Given the description of an element on the screen output the (x, y) to click on. 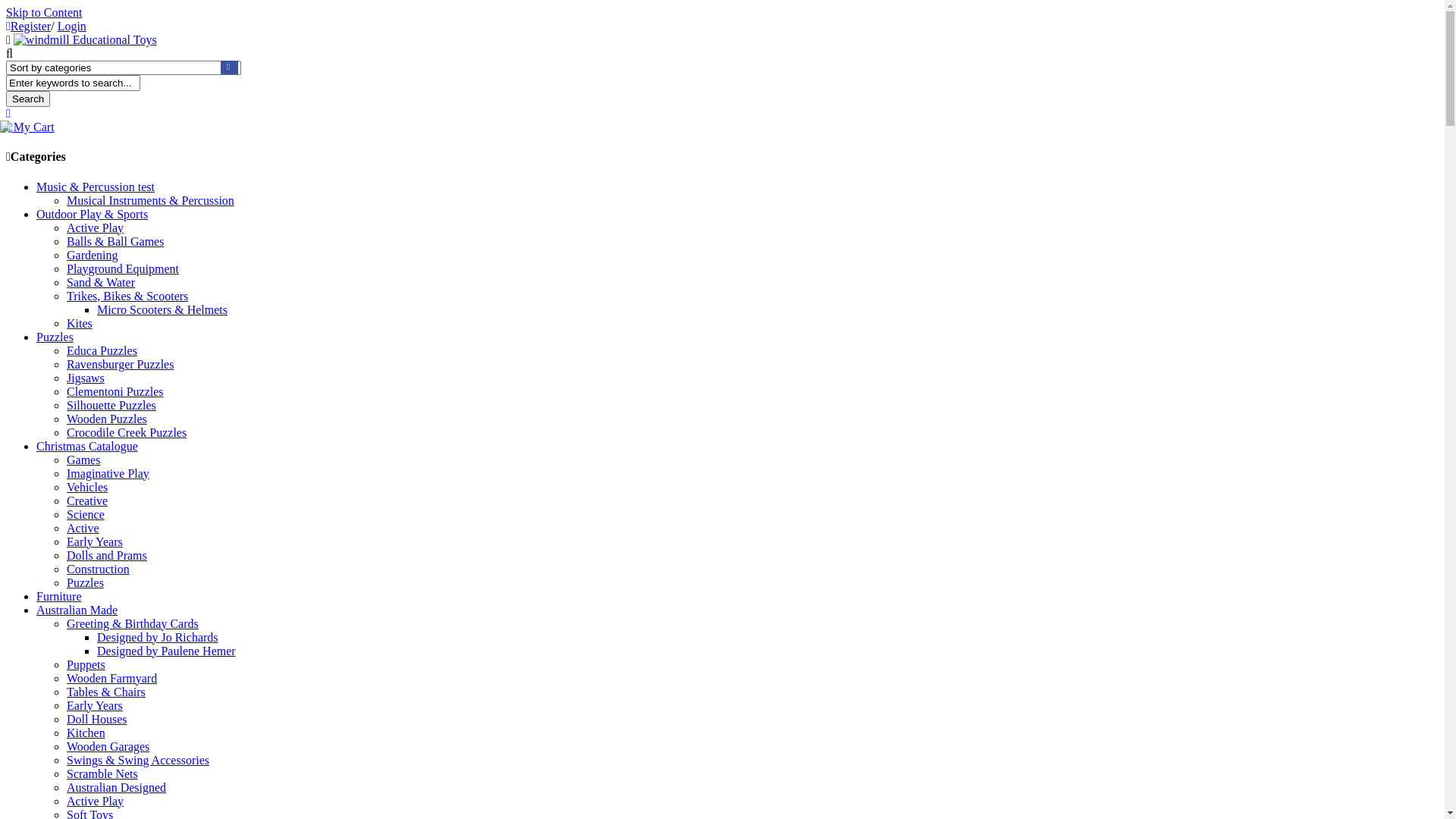
Christmas Catalogue Element type: text (87, 445)
Early Years Element type: text (94, 541)
Puzzles Element type: text (84, 582)
Designed by Jo Richards Element type: text (157, 636)
Gardening Element type: text (92, 254)
Playground Equipment Element type: text (122, 268)
Doll Houses Element type: text (96, 718)
Australian Designed Element type: text (116, 787)
Musical Instruments & Percussion Element type: text (150, 200)
Music & Percussion test Element type: text (95, 186)
Silhouette Puzzles Element type: text (111, 404)
Active Play Element type: text (94, 800)
Wooden Puzzles Element type: text (106, 418)
Clementoni Puzzles Element type: text (114, 391)
Sand & Water Element type: text (100, 282)
Swings & Swing Accessories Element type: text (137, 759)
Micro Scooters & Helmets Element type: text (162, 309)
Creative Element type: text (86, 500)
Login Element type: text (71, 25)
windmill Educational Toys Element type: hover (84, 39)
Science Element type: text (85, 514)
Construction Element type: text (97, 568)
Jigsaws Element type: text (85, 377)
Furniture Element type: text (58, 595)
Outdoor Play & Sports Element type: text (91, 213)
Search Element type: text (28, 98)
Puppets Element type: text (85, 664)
Crocodile Creek Puzzles Element type: text (126, 432)
Kites Element type: text (79, 322)
Register Element type: text (28, 25)
Trikes, Bikes & Scooters Element type: text (127, 295)
Puzzles Element type: text (54, 336)
Scramble Nets Element type: text (102, 773)
Ravensburger Puzzles Element type: text (119, 363)
Games Element type: text (83, 459)
Skip to Content Element type: text (43, 12)
Early Years Element type: text (94, 705)
Active Element type: text (82, 527)
Greeting & Birthday Cards Element type: text (132, 623)
Designed by Paulene Hemer Element type: text (166, 650)
Wooden Farmyard Element type: text (111, 677)
Dolls and Prams Element type: text (106, 555)
Vehicles Element type: text (86, 486)
My Cart Element type: text (30, 126)
Australian Made Element type: text (76, 609)
Imaginative Play Element type: text (107, 473)
Wooden Garages Element type: text (107, 746)
Active Play Element type: text (94, 227)
Tables & Chairs Element type: text (105, 691)
Kitchen Element type: text (85, 732)
Educa Puzzles Element type: text (101, 350)
Balls & Ball Games Element type: text (114, 241)
